Given the description of an element on the screen output the (x, y) to click on. 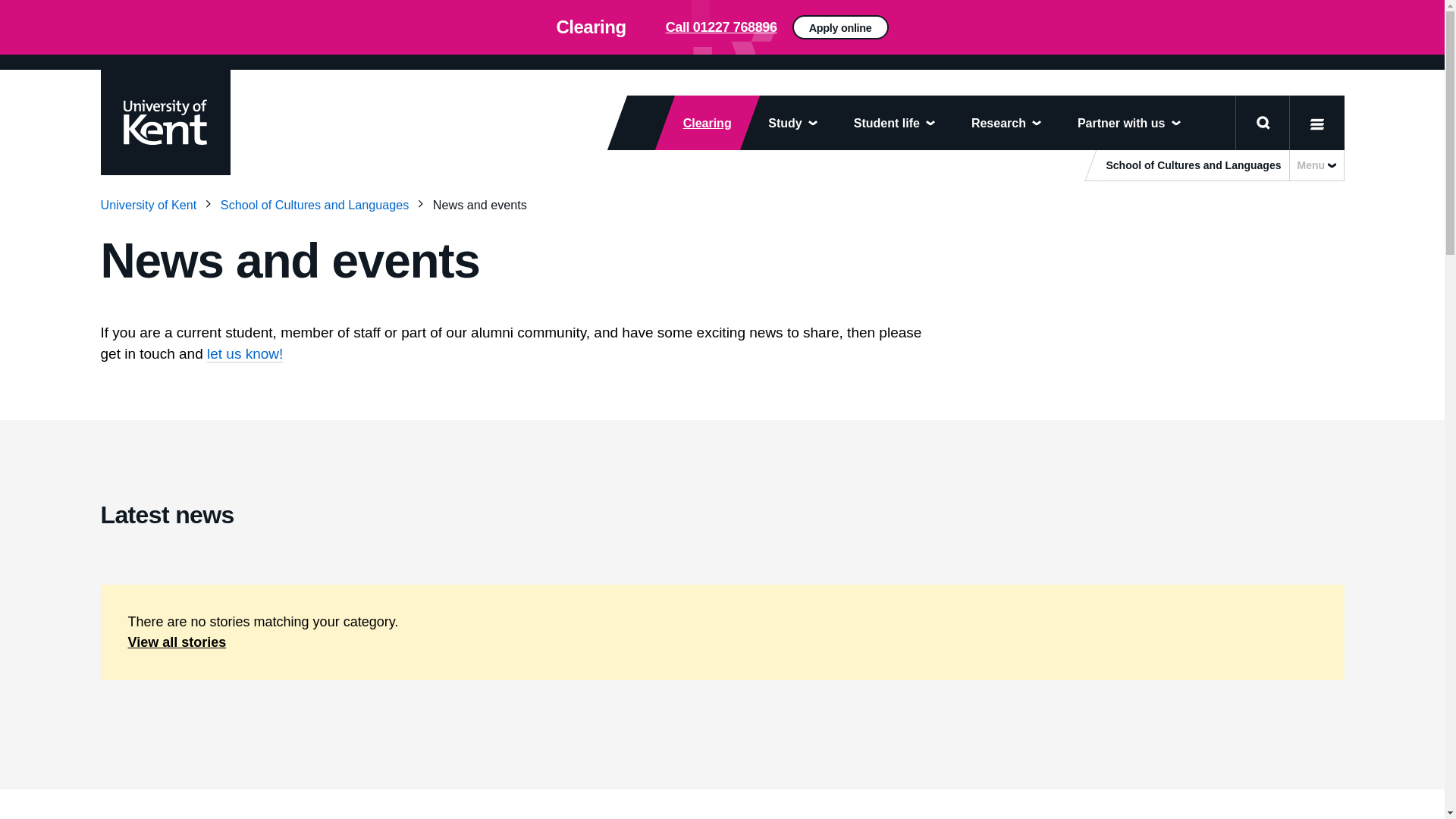
design2 (721, 27)
Study (791, 122)
University of Kent logo (164, 121)
Apply online (1050, 33)
Call 01227 768896 (721, 27)
Clearing (697, 122)
